Given the description of an element on the screen output the (x, y) to click on. 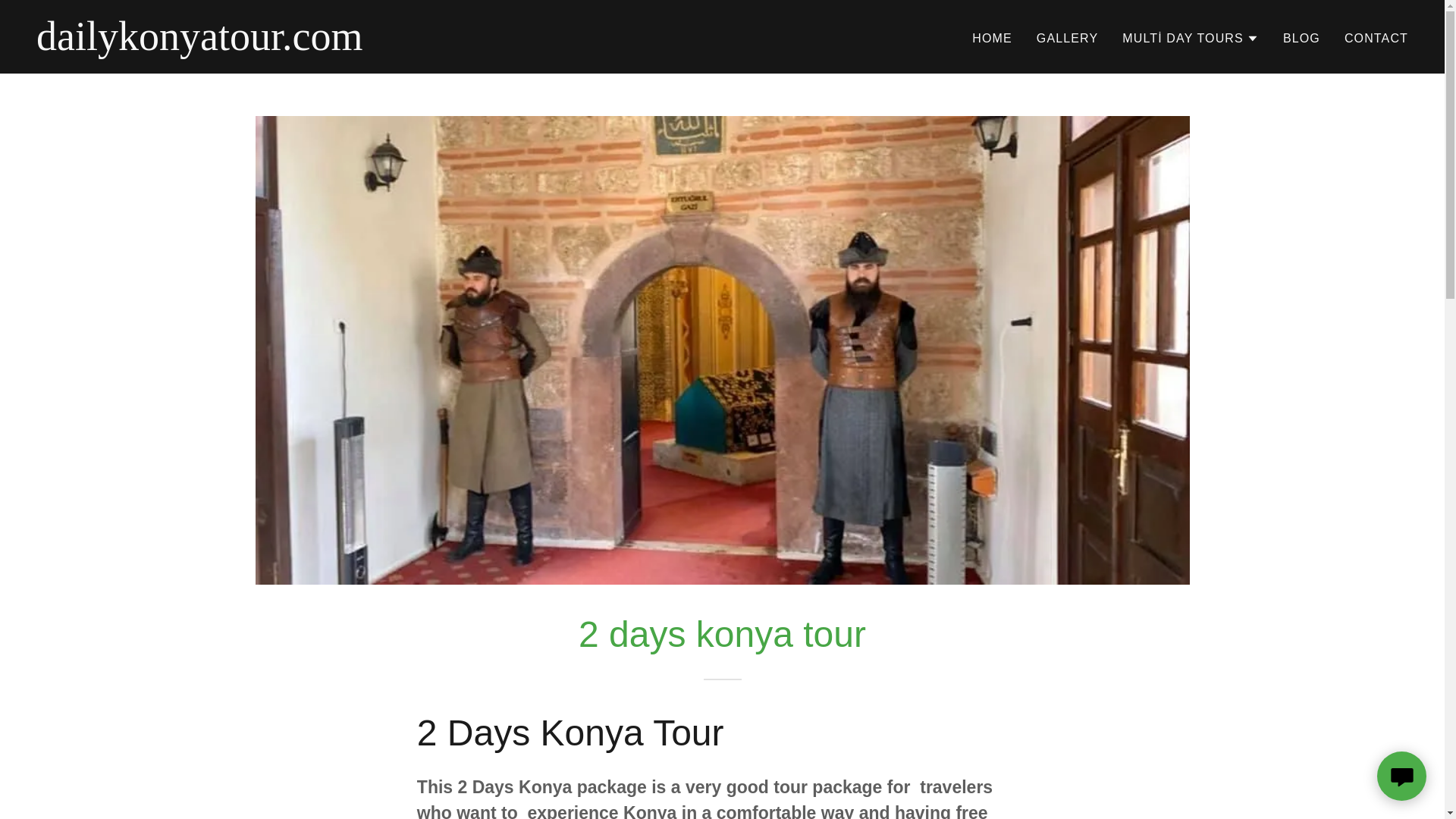
BLOG (1301, 38)
dailykonyatour.com (276, 45)
HOME (992, 38)
dailykonyatour.com (276, 45)
GALLERY (1067, 38)
CONTACT (1375, 38)
MULTI DAY TOURS (1190, 38)
